Given the description of an element on the screen output the (x, y) to click on. 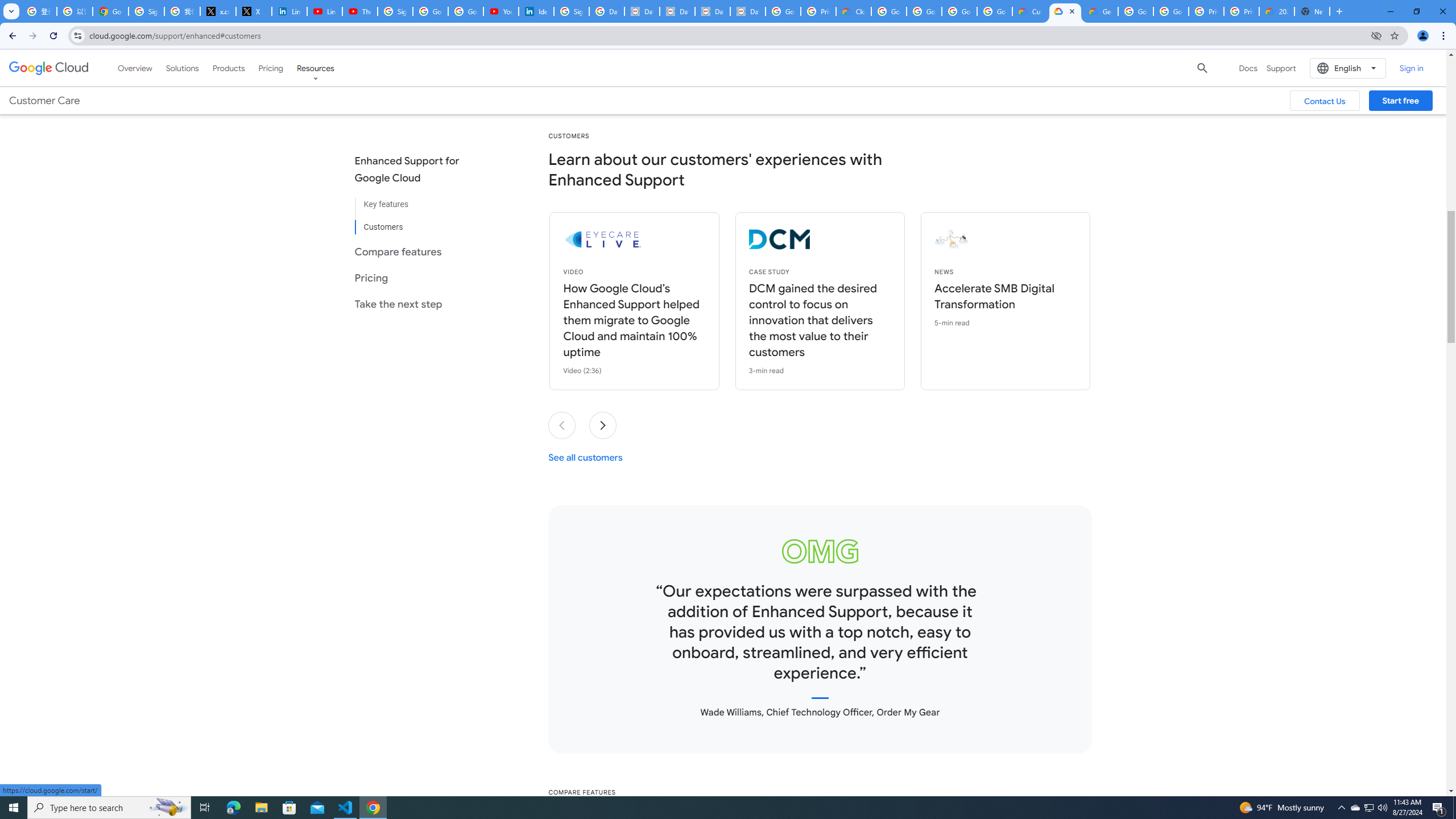
Gemini for Business and Developers | Google Cloud (1099, 11)
Key features (416, 204)
employees connected through the cloud illustration (1035, 239)
Compare features (416, 251)
Google Workspace - Specific Terms (959, 11)
omg logo (820, 550)
Cloud Data Processing Addendum | Google Cloud (853, 11)
Enhanced Support | Google Cloud (1064, 11)
